Given the description of an element on the screen output the (x, y) to click on. 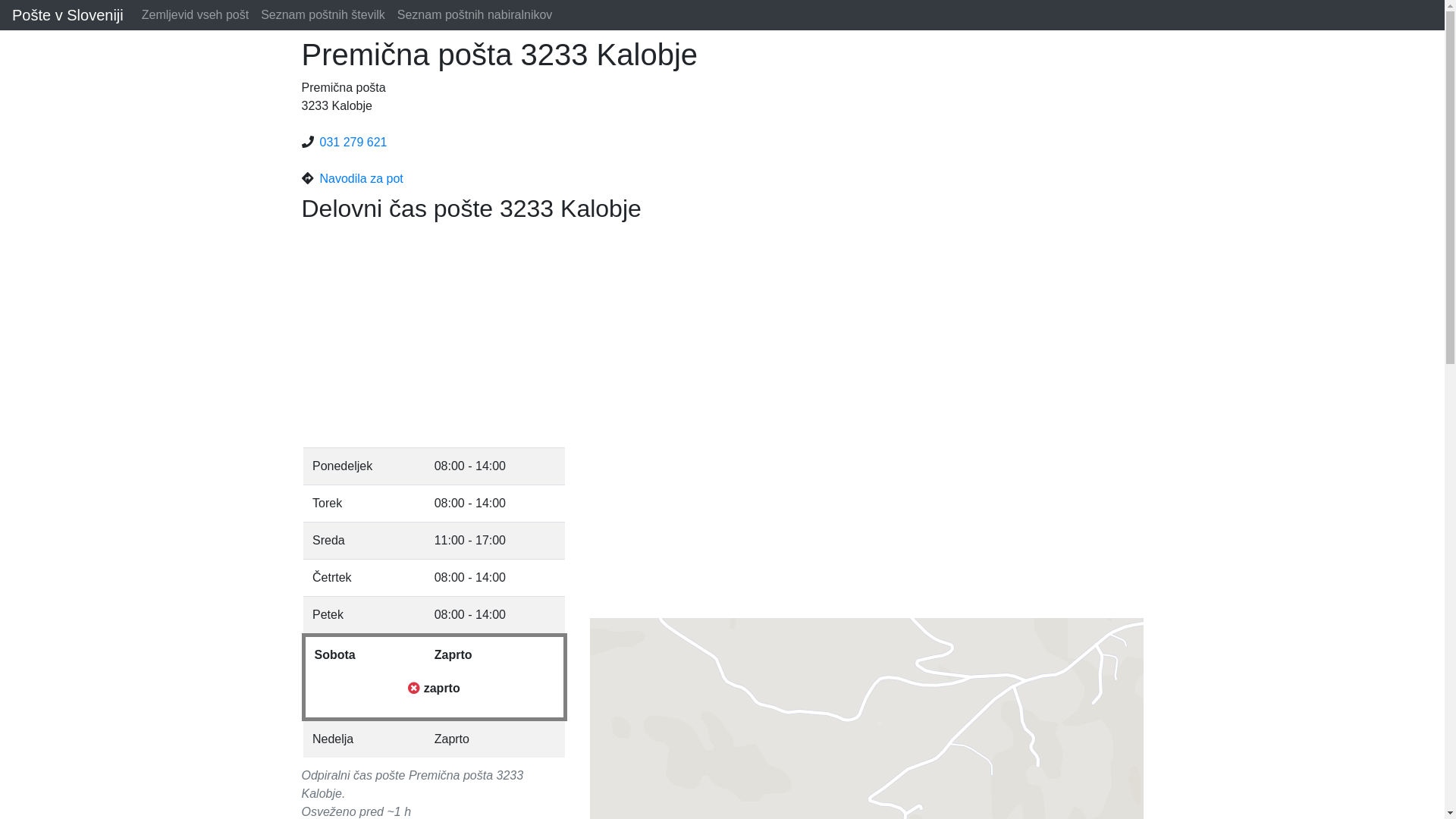
Advertisement Element type: hover (722, 335)
031 279 621 Element type: text (353, 141)
Navodila za pot Element type: text (361, 178)
